Given the description of an element on the screen output the (x, y) to click on. 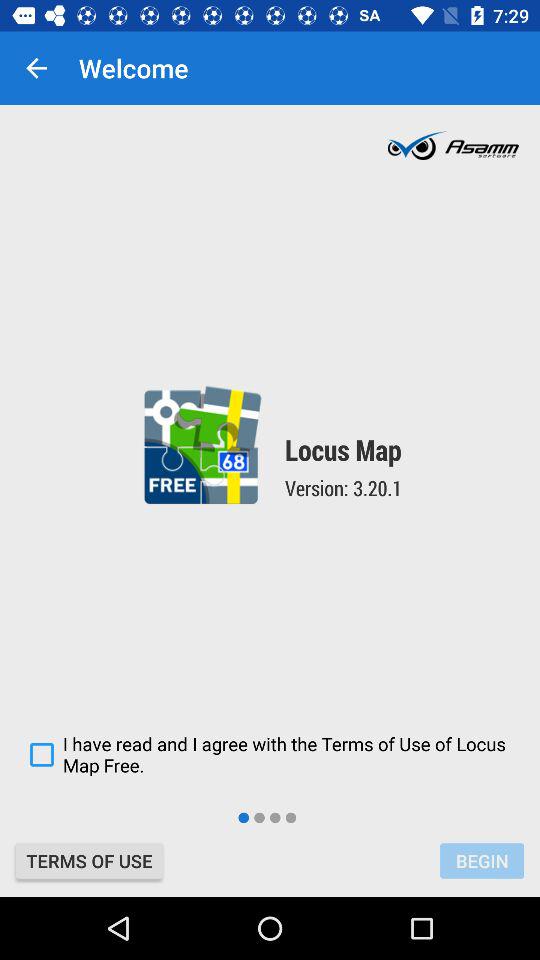
turn off the icon to the right of terms of use icon (482, 860)
